Given the description of an element on the screen output the (x, y) to click on. 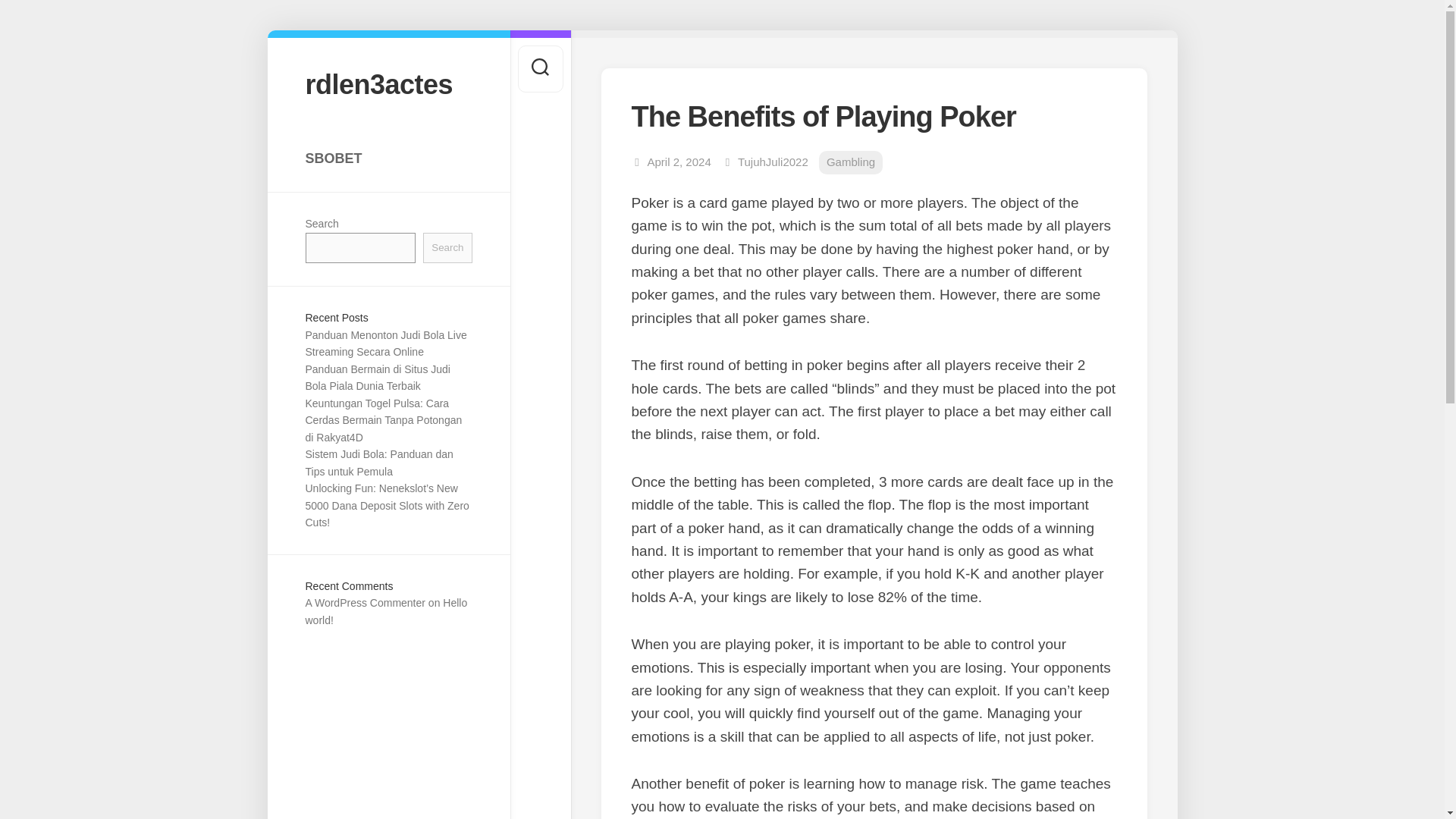
SBOBET (387, 158)
rdlen3actes (387, 83)
Gambling (850, 162)
Search (447, 247)
A WordPress Commenter (364, 603)
Panduan Bermain di Situs Judi Bola Piala Dunia Terbaik (376, 378)
Hello world! (385, 611)
Panduan Menonton Judi Bola Live Streaming Secara Online (384, 343)
TujuhJuli2022 (773, 161)
